Given the description of an element on the screen output the (x, y) to click on. 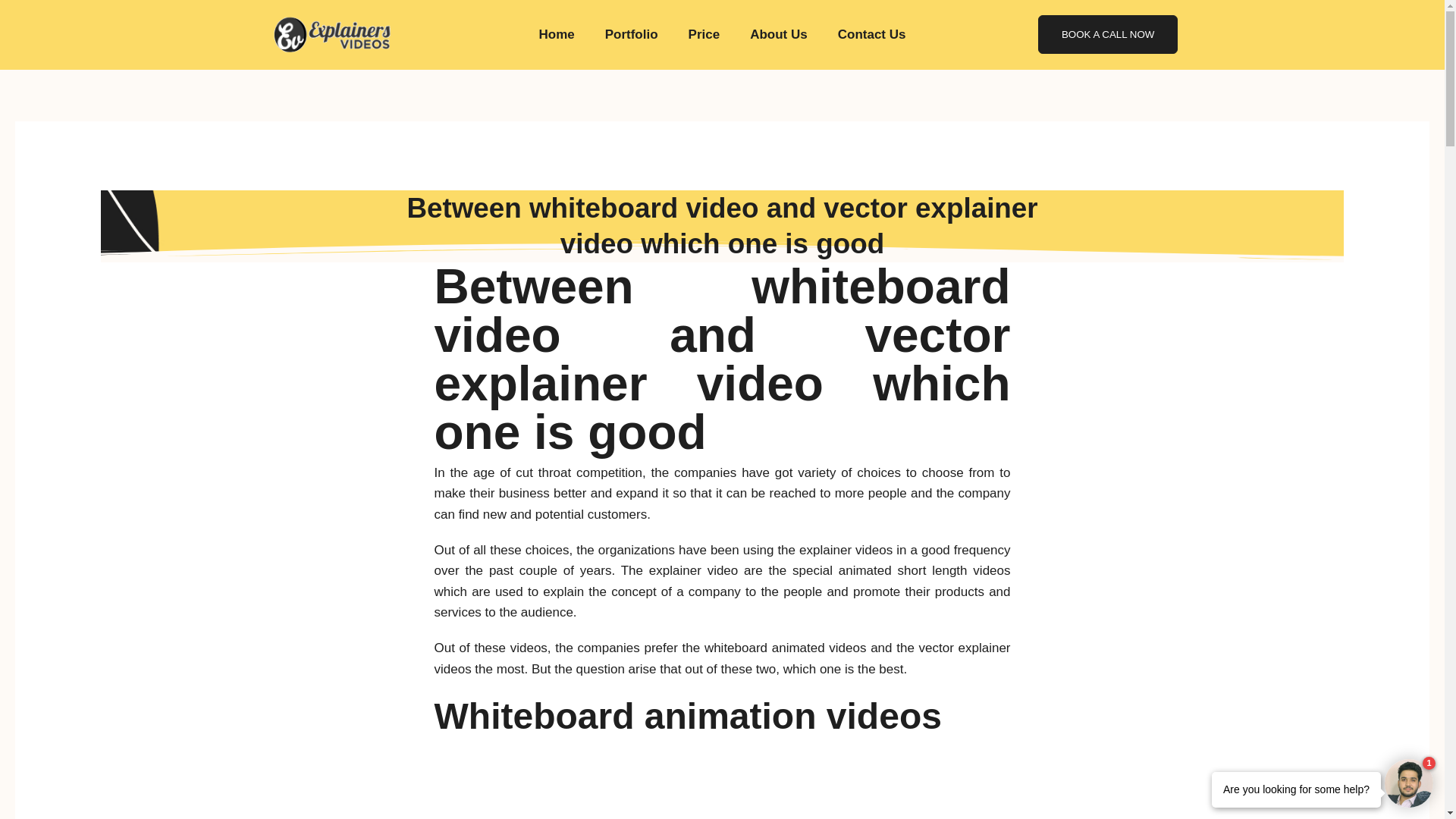
Home (555, 34)
About Us (778, 34)
BOOK A CALL NOW (1107, 34)
Portfolio (631, 34)
Price (704, 34)
Contact Us (871, 34)
